Given the description of an element on the screen output the (x, y) to click on. 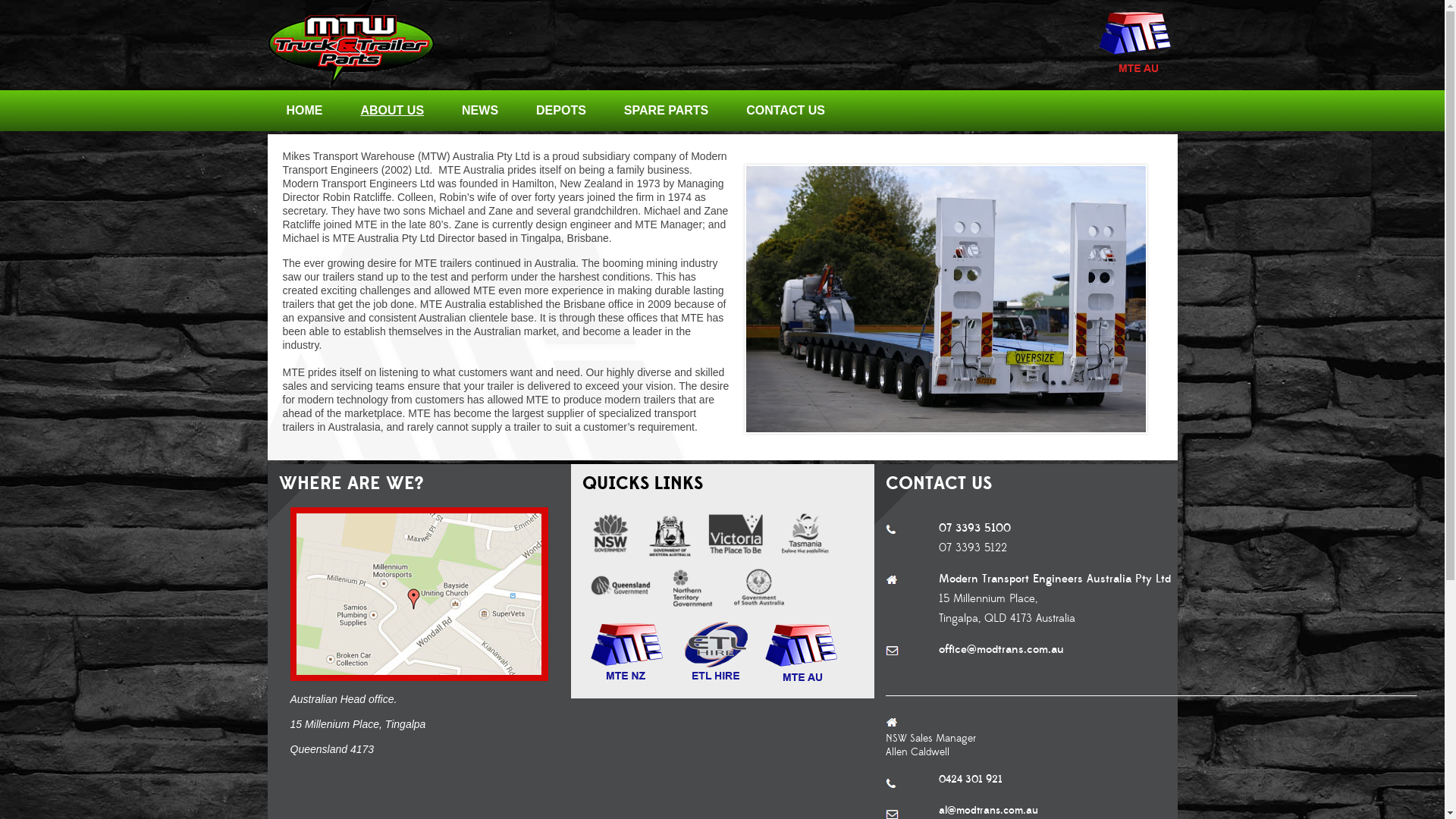
HOME Element type: text (303, 110)
DEPOTS Element type: text (561, 110)
office@modtrans.com.au Element type: text (1000, 649)
SPARE PARTS Element type: text (666, 110)
ABOUT US Element type: text (391, 110)
CONTACT US Element type: text (785, 110)
NEWS Element type: text (479, 110)
